Given the description of an element on the screen output the (x, y) to click on. 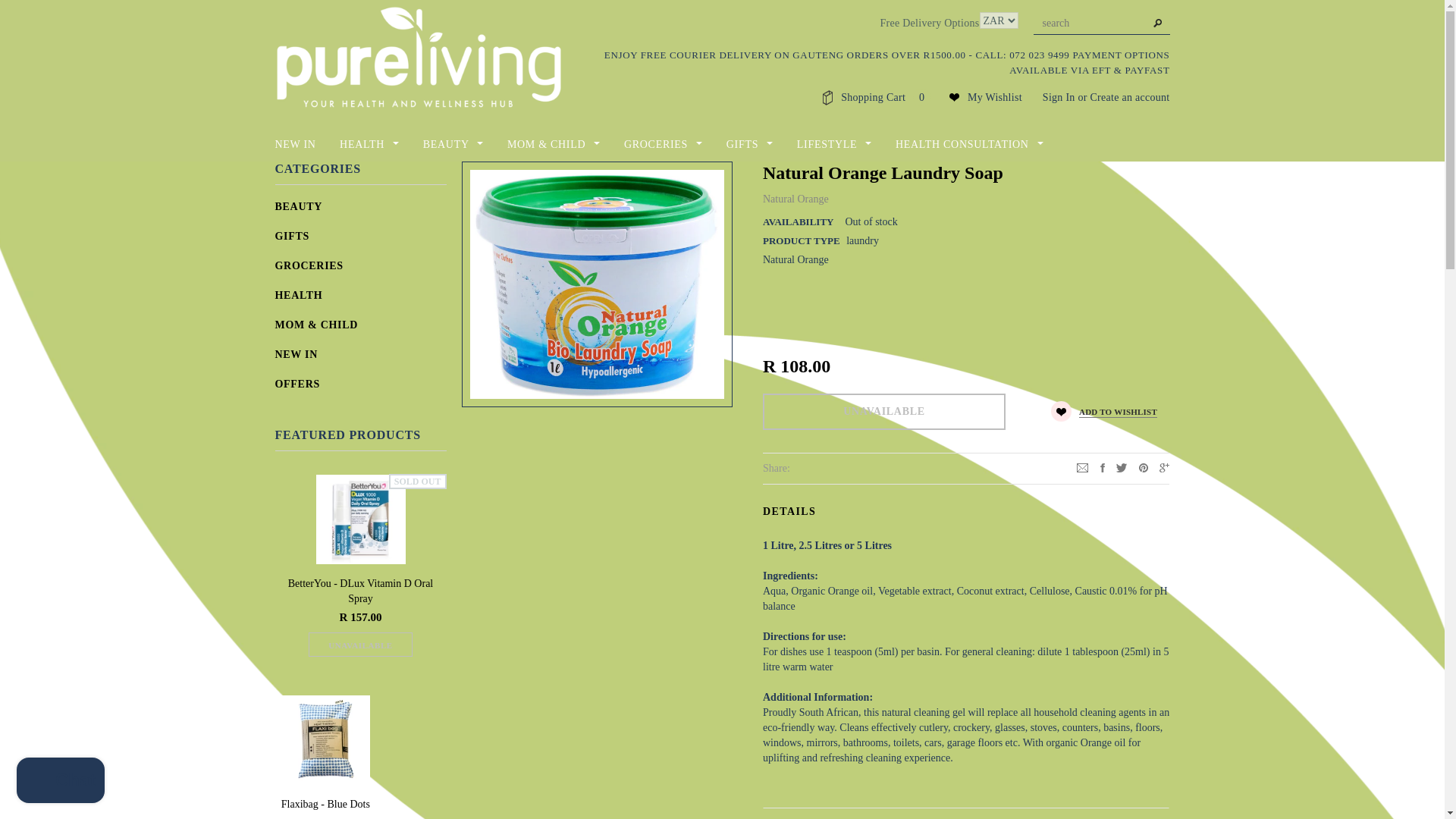
Free Delivery Options (928, 22)
Create an account (1129, 97)
Twitter (1121, 466)
Shopping Cart 0 (885, 97)
Unavailable (360, 644)
Sign In (1058, 97)
Unavailable (884, 411)
My Wishlist (995, 97)
Search (1158, 23)
Add to wishlist (1104, 410)
